Given the description of an element on the screen output the (x, y) to click on. 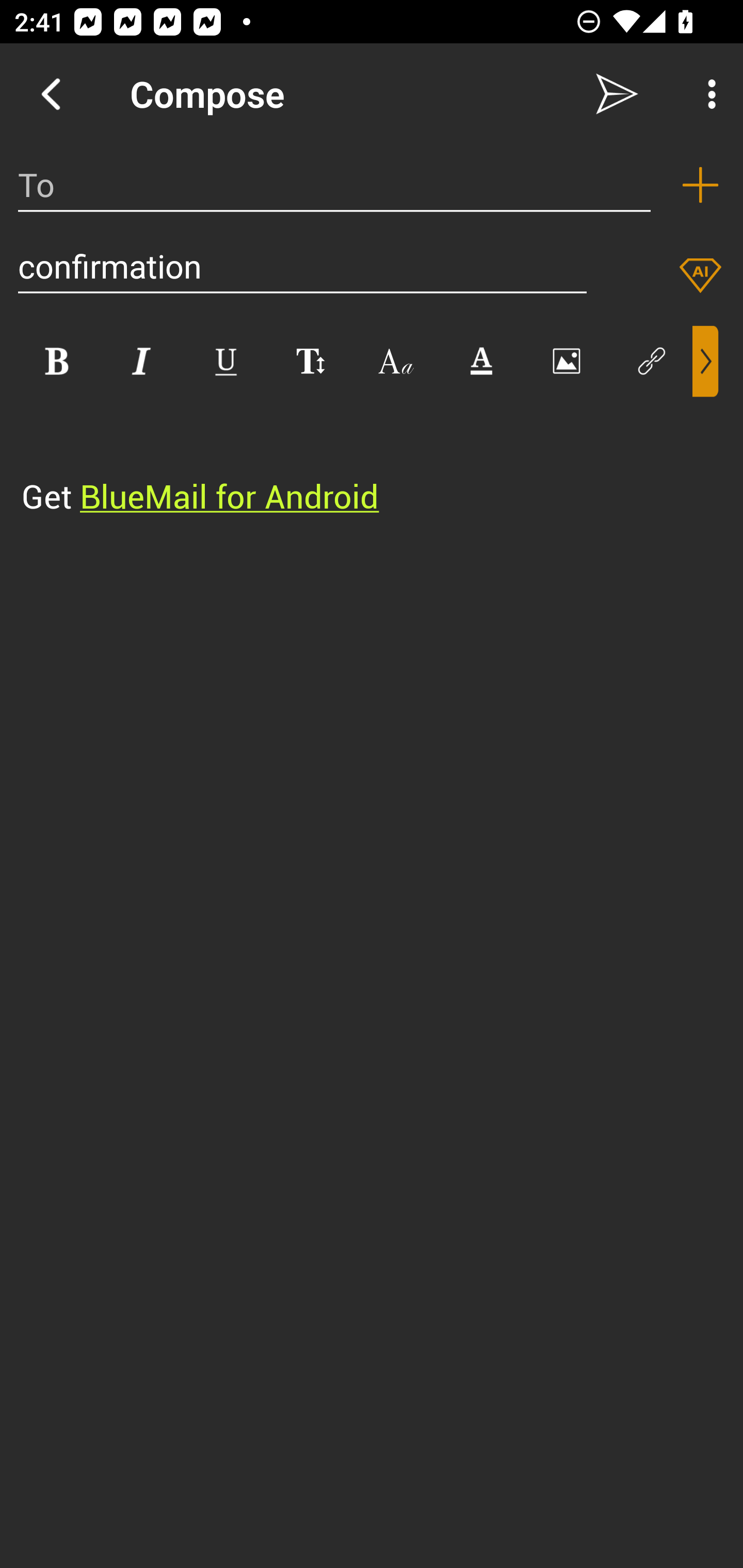
Navigate up (50, 93)
Send (616, 93)
More Options (706, 93)
To (334, 184)
Add recipient (To) (699, 184)
confirmation (302, 266)


⁣Get BlueMail for Android ​ (355, 457)
